Given the description of an element on the screen output the (x, y) to click on. 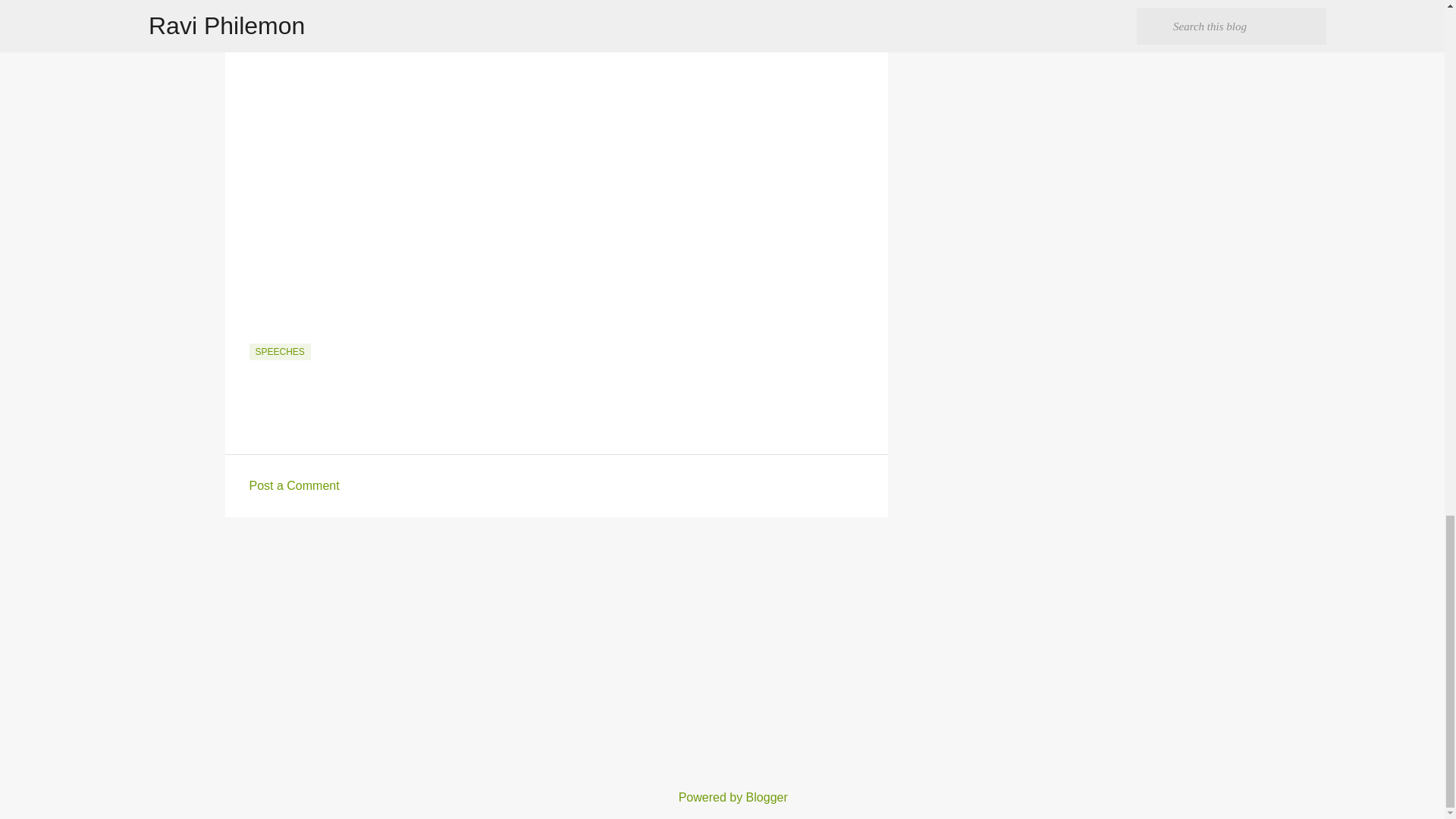
Post a Comment (293, 485)
SPEECHES (279, 351)
Powered by Blogger (721, 797)
Email Post (257, 334)
